Given the description of an element on the screen output the (x, y) to click on. 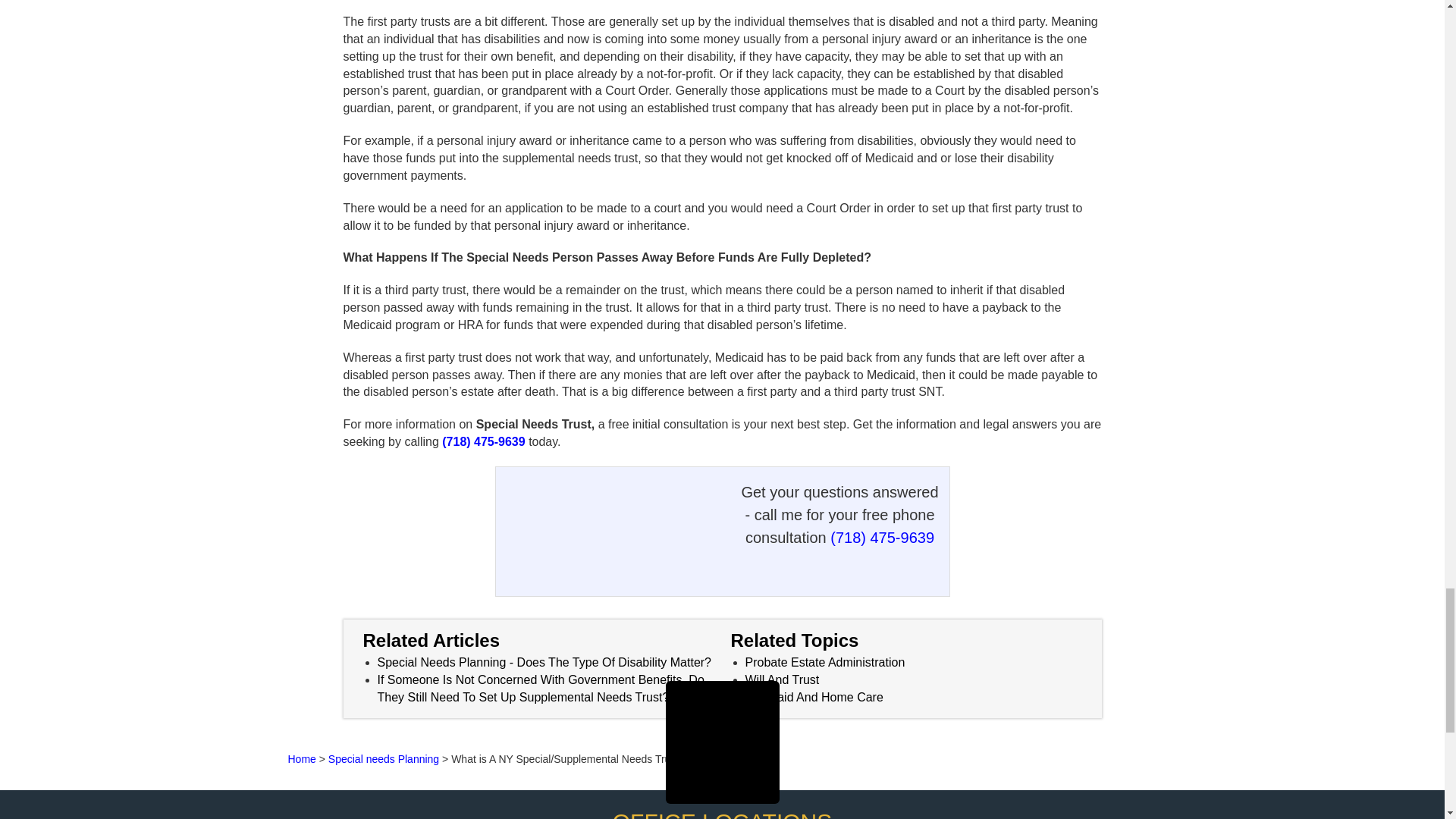
Go to Michael Camporeale. (301, 758)
Special Needs Planning - Does The Type Of Disability Matter? (544, 662)
Go to Special needs Planning. (384, 758)
